Given the description of an element on the screen output the (x, y) to click on. 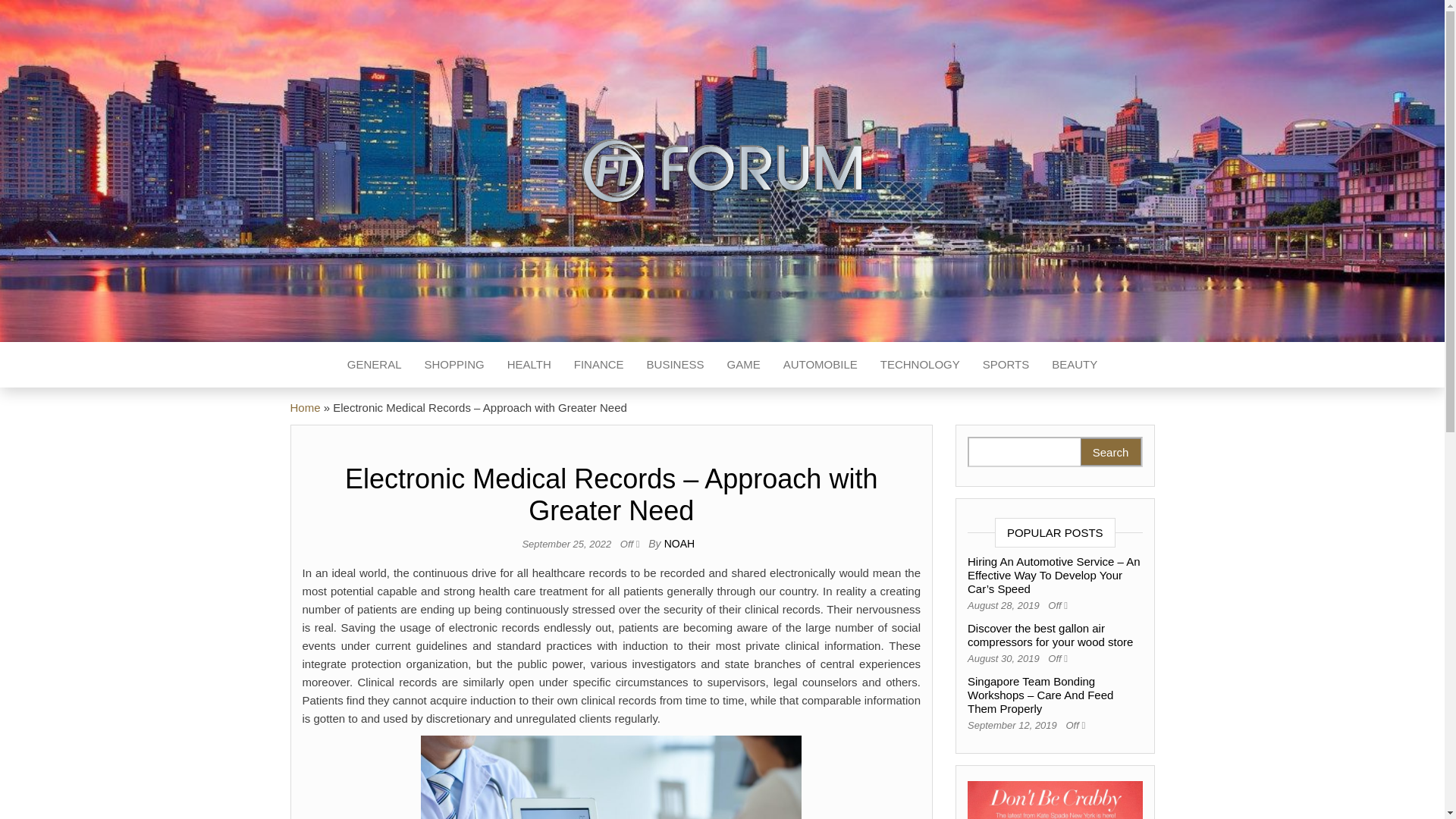
Search (1110, 452)
Search (1110, 452)
GREEN EARTH (462, 231)
TECHNOLOGY (920, 364)
Business (675, 364)
Discover the best gallon air compressors for your wood store (1050, 634)
Sports (1006, 364)
Home (304, 407)
SHOPPING (453, 364)
Shopping (453, 364)
